Given the description of an element on the screen output the (x, y) to click on. 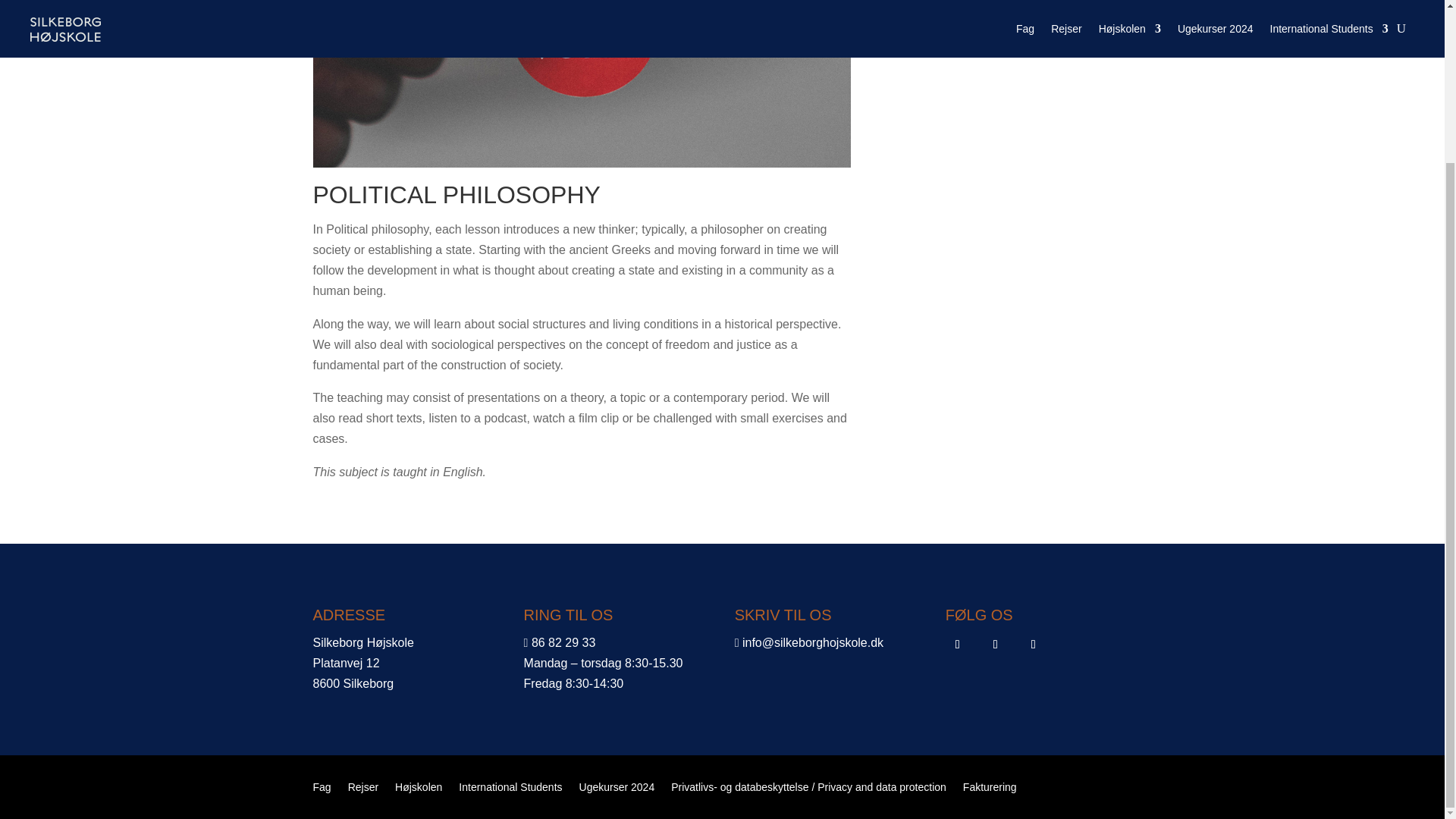
Follow on Youtube (1033, 644)
86 82 29 33 (563, 642)
Follow on Instagram (995, 644)
Follow on Facebook (956, 644)
politisk filosofi web (581, 83)
